Given the description of an element on the screen output the (x, y) to click on. 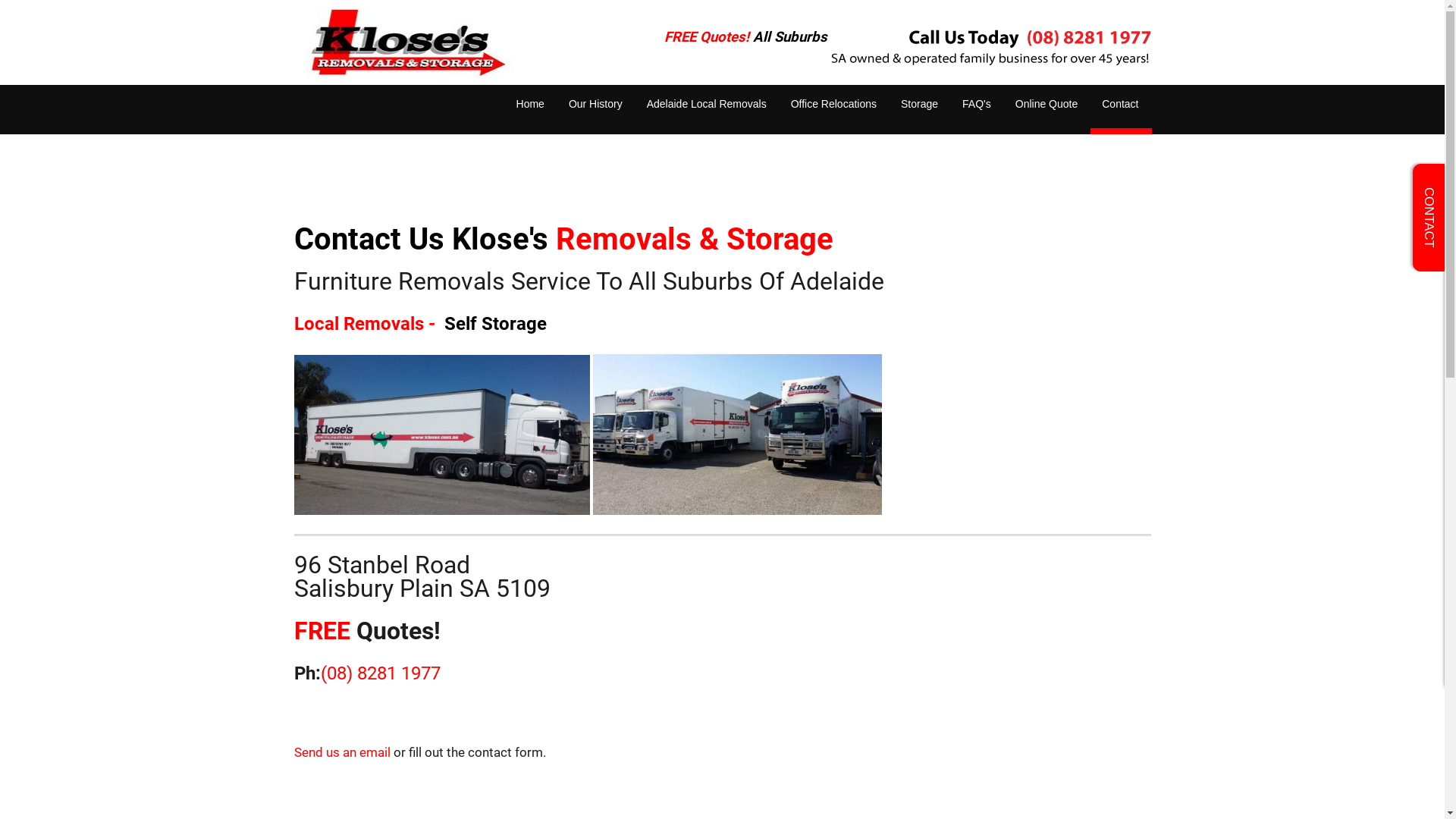
Local Removals Element type: text (358, 323)
Home Element type: text (530, 109)
FAQ's Element type: text (976, 109)
Self Storage Element type: text (495, 323)
Adelaide Local Removals Element type: text (706, 109)
Our History Element type: text (595, 109)
(08) 8281 1977 Element type: text (379, 673)
Office Relocations Element type: text (833, 109)
Send us an email Element type: text (342, 751)
Storage Element type: text (919, 109)
Contact Element type: text (1119, 109)
Online Quote Element type: text (1046, 109)
